Given the description of an element on the screen output the (x, y) to click on. 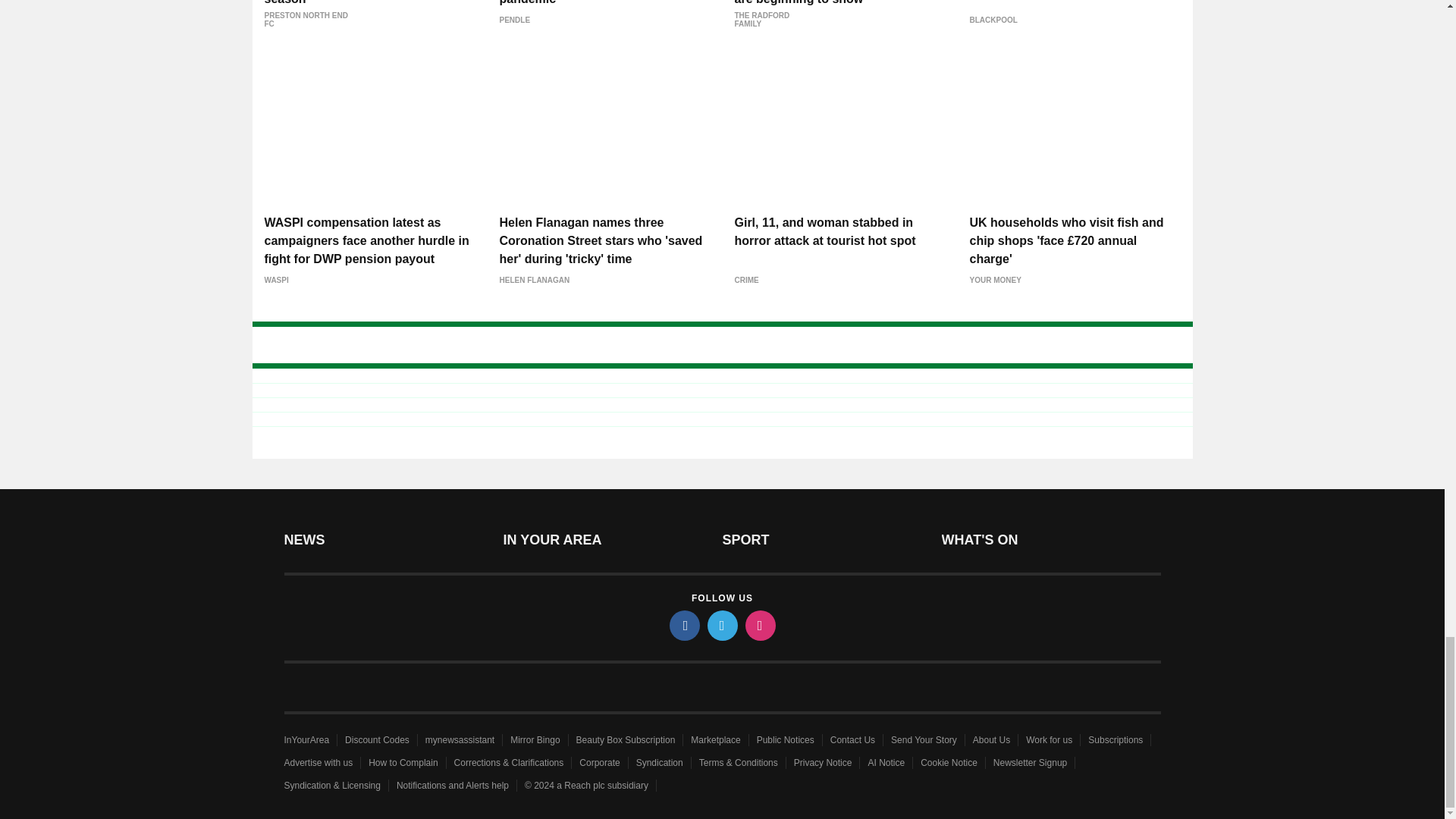
twitter (721, 625)
instagram (759, 625)
facebook (683, 625)
